Given the description of an element on the screen output the (x, y) to click on. 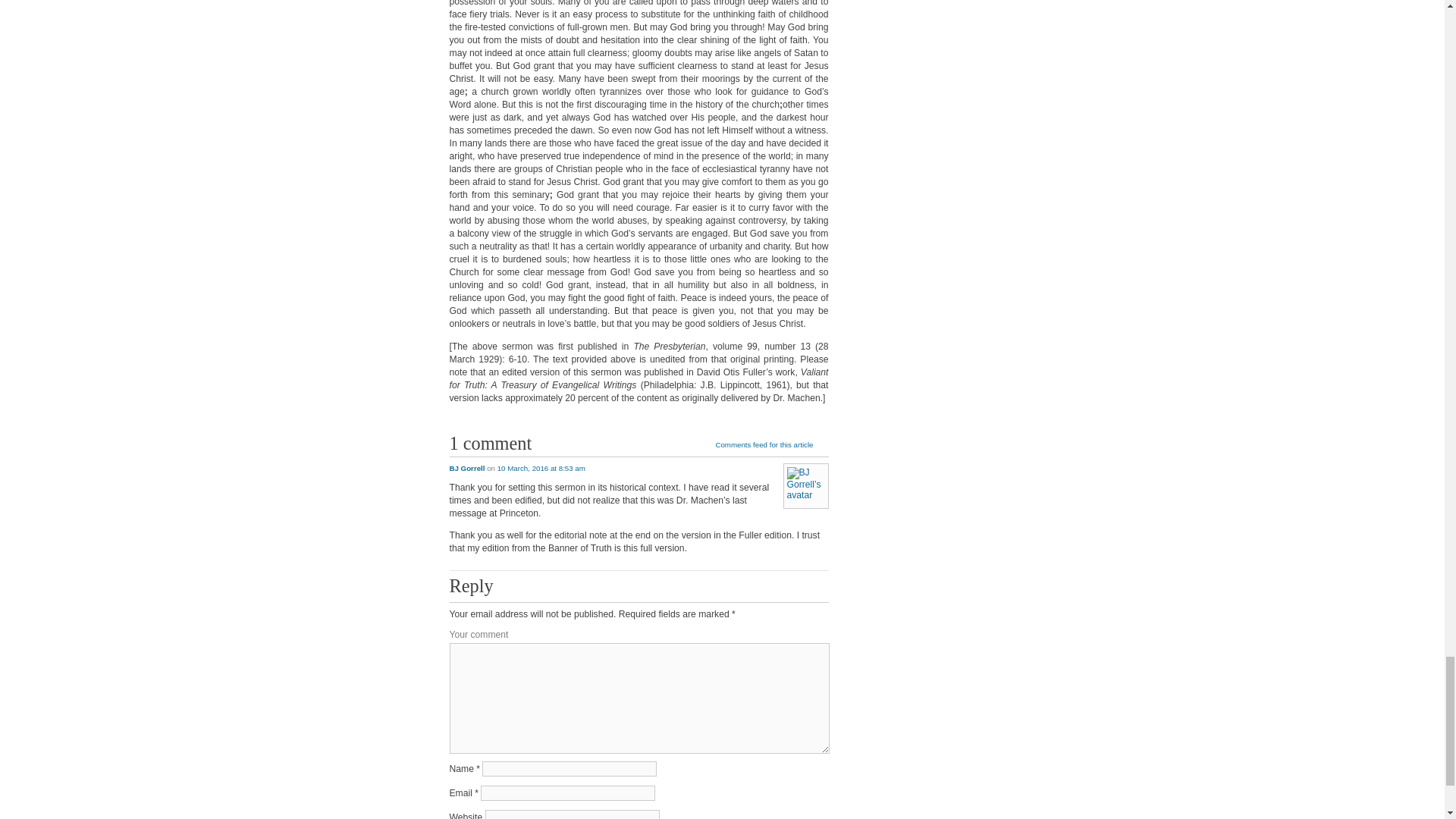
10 March, 2016 at 8:53 am (541, 468)
Permalink to this comment (541, 468)
Comments feed for this article (771, 445)
BJ Gorrell (466, 468)
